Given the description of an element on the screen output the (x, y) to click on. 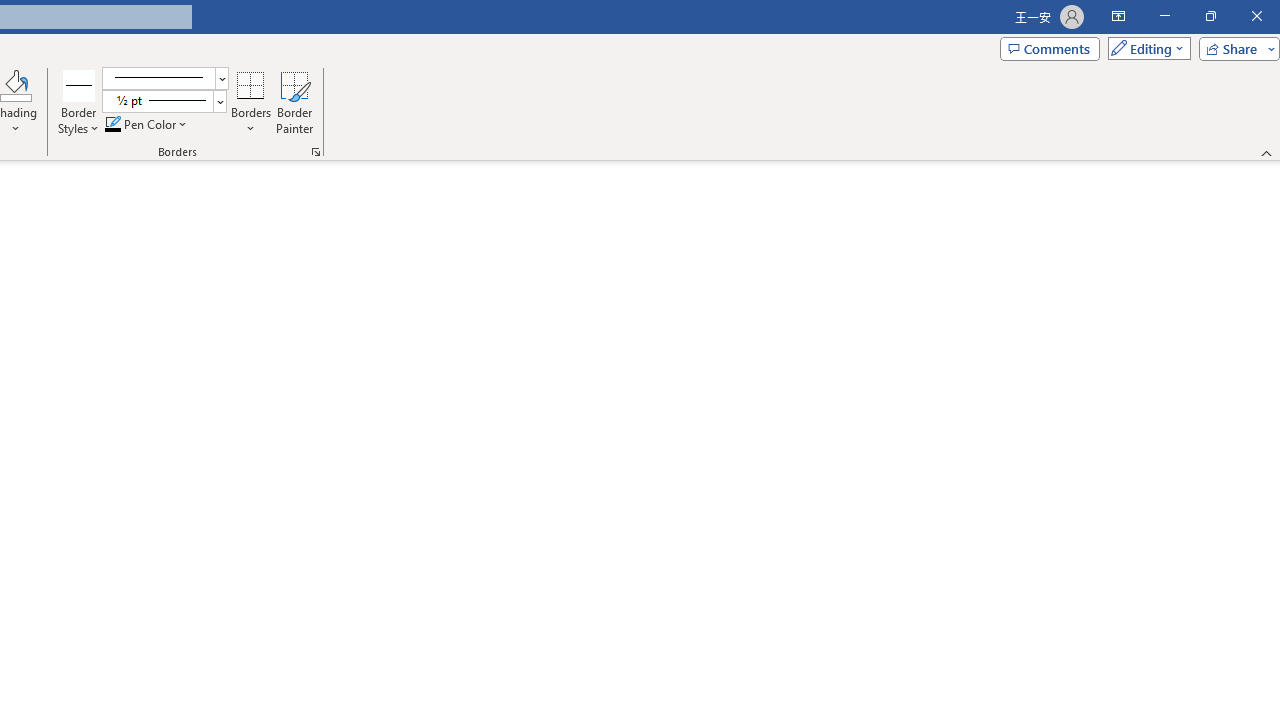
Border Styles (79, 84)
Pen Color RGB(0, 0, 0) (113, 124)
